Given the description of an element on the screen output the (x, y) to click on. 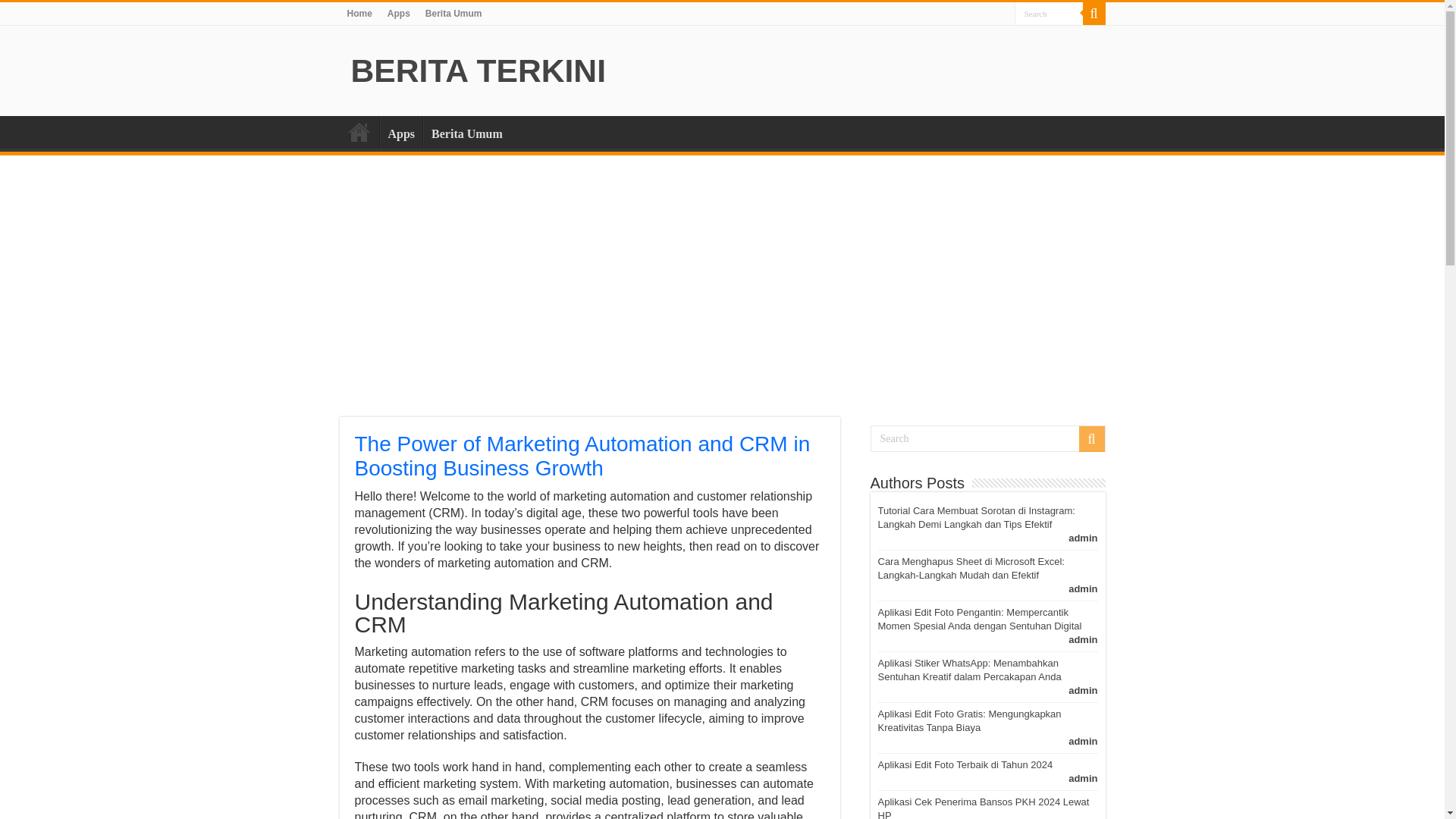
Apps (398, 13)
admin (1082, 537)
Search (1090, 438)
admin (1082, 690)
Home (358, 132)
Search (1048, 13)
admin (1082, 778)
Aplikasi Cek Penerima Bansos PKH 2024 Lewat HP (983, 807)
Berita Umum (453, 13)
Berita Umum (467, 132)
Search (1048, 13)
Home (359, 13)
